Given the description of an element on the screen output the (x, y) to click on. 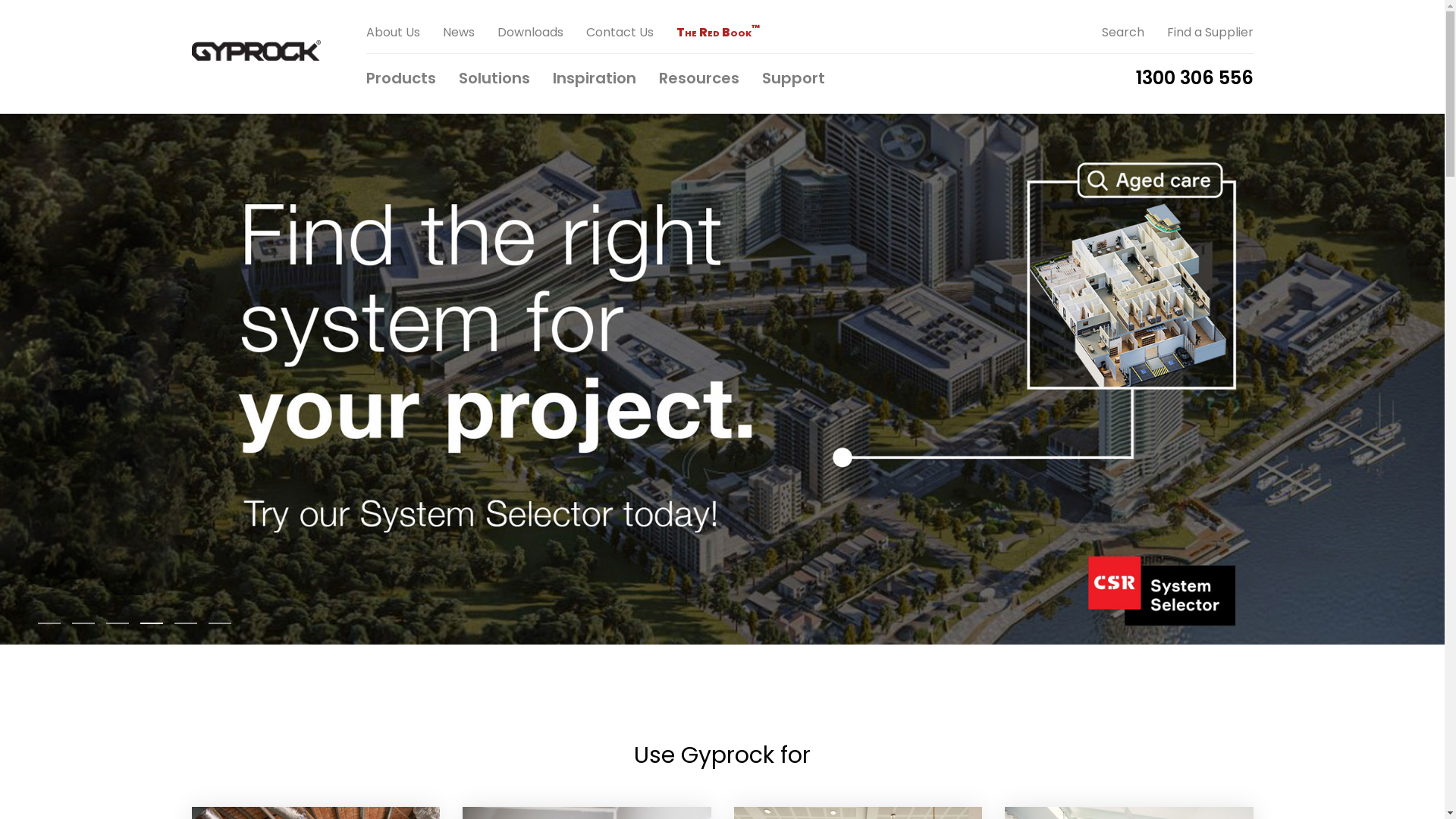
1300 306 556 Element type: text (1194, 83)
Inspiration Element type: text (605, 83)
Solutions Element type: text (505, 83)
Contact Us Element type: text (630, 26)
Downloads Element type: text (541, 26)
Search Element type: text (1133, 26)
Products Element type: text (411, 83)
Support Element type: text (804, 83)
About Us Element type: text (403, 26)
Find a Supplier Element type: text (1209, 26)
Resources Element type: text (709, 83)
News Element type: text (469, 26)
